Given the description of an element on the screen output the (x, y) to click on. 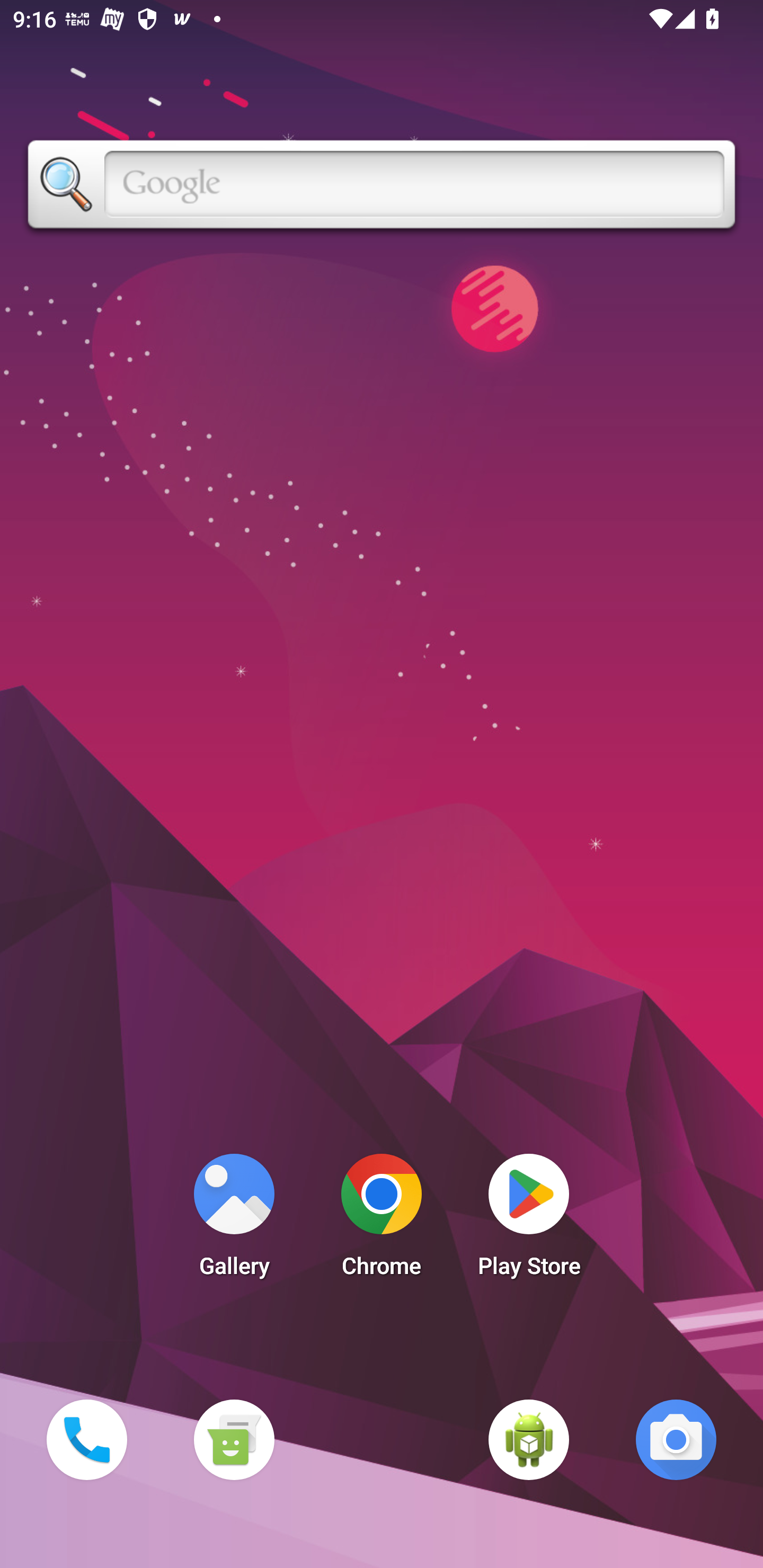
Gallery (233, 1220)
Chrome (381, 1220)
Play Store (528, 1220)
Phone (86, 1439)
Messaging (233, 1439)
WebView Browser Tester (528, 1439)
Camera (676, 1439)
